Given the description of an element on the screen output the (x, y) to click on. 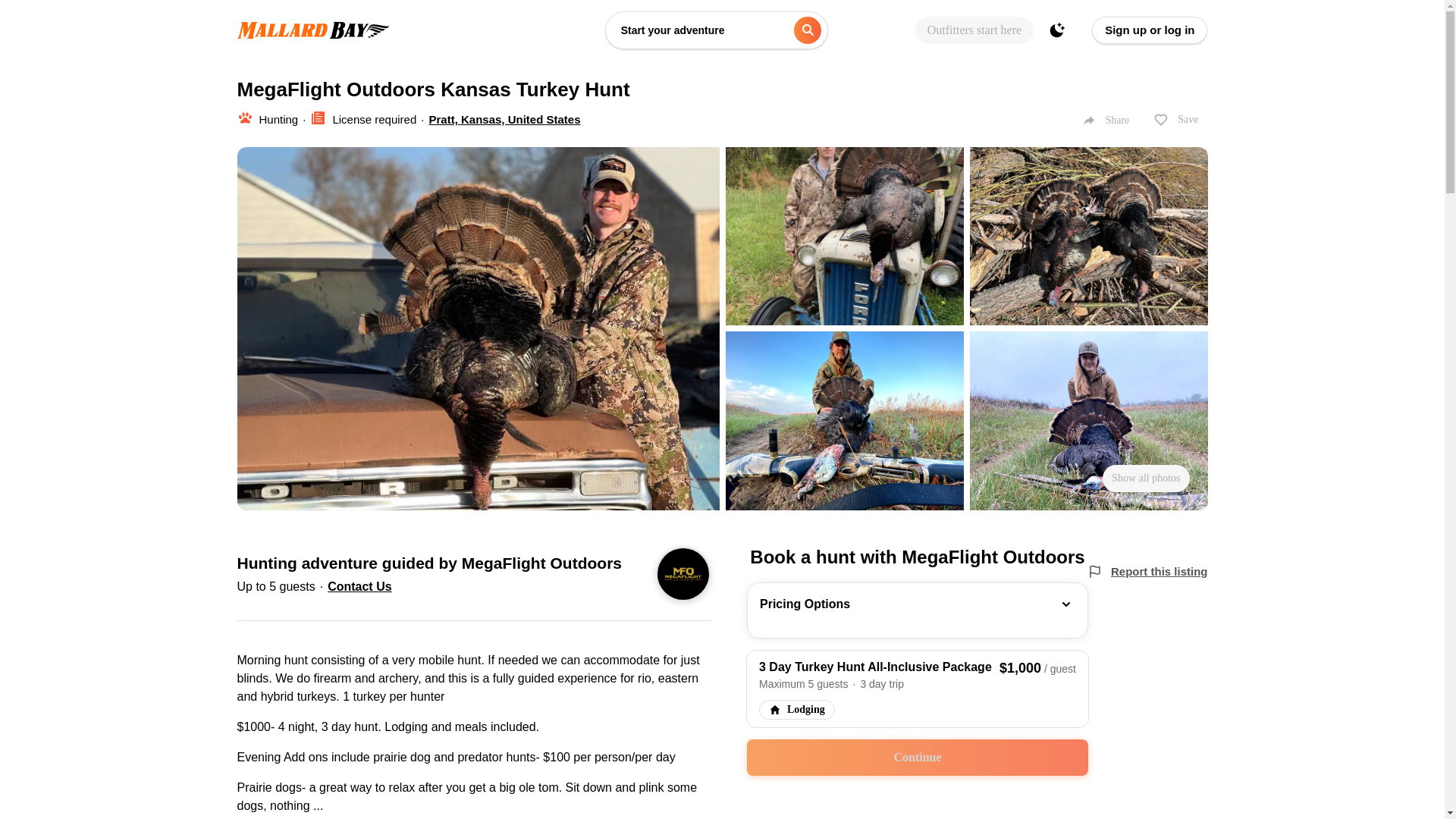
Share (1105, 120)
Show all photos (1145, 478)
Search (806, 30)
Down (1066, 604)
Save (1175, 119)
Report this listing (1159, 571)
Continue (916, 757)
Pricing Options (916, 610)
Contact Us (359, 585)
